Given the description of an element on the screen output the (x, y) to click on. 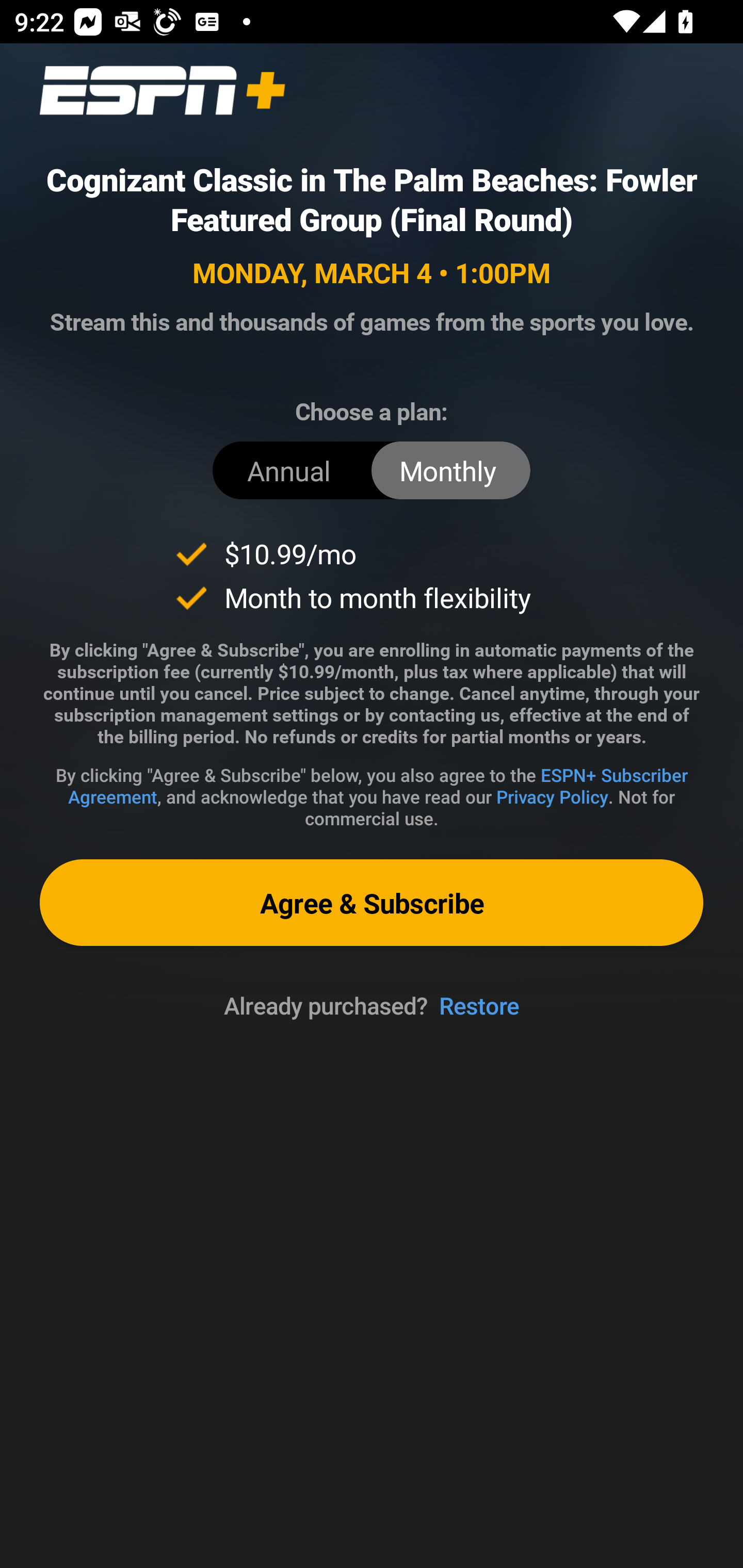
Agree & Subscribe (371, 902)
